Given the description of an element on the screen output the (x, y) to click on. 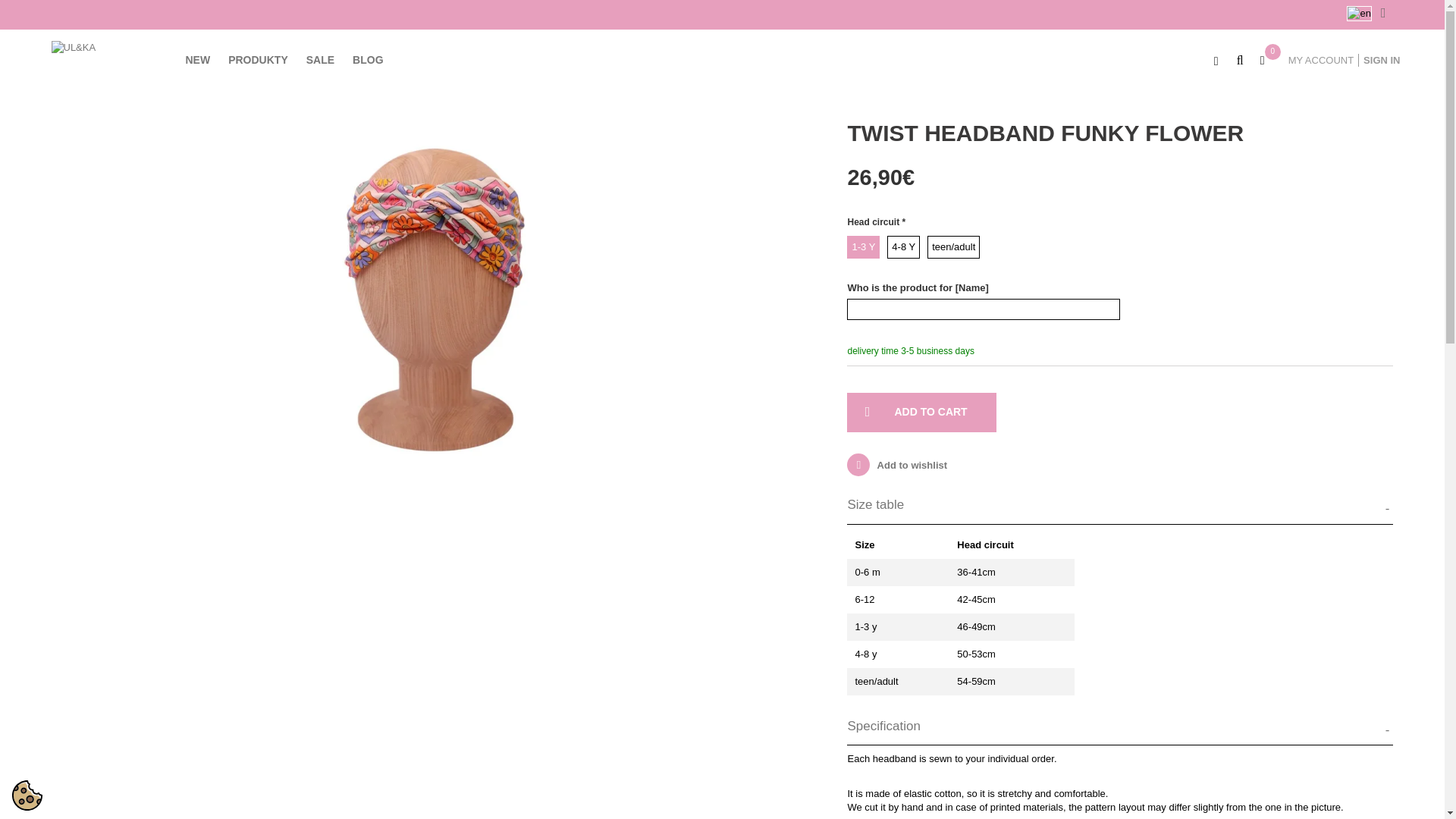
SIGN IN (1381, 60)
NEW (197, 59)
0 (1265, 65)
new (197, 59)
PRODUKTY (258, 59)
Produkty (258, 59)
MY ACCOUNT (1321, 60)
BLOG (367, 59)
SALE (320, 59)
